Given the description of an element on the screen output the (x, y) to click on. 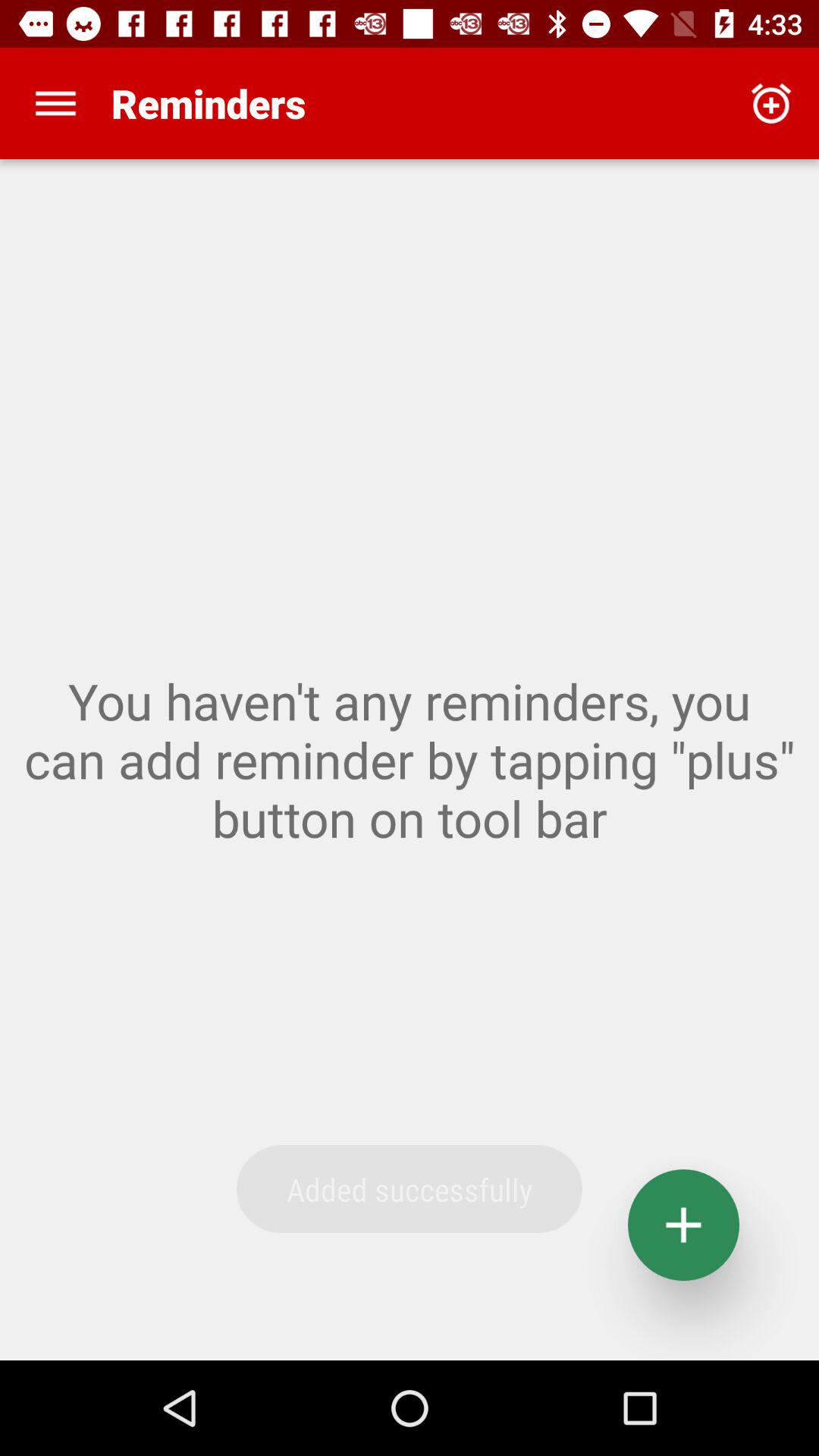
choose the app to the right of reminders (771, 103)
